Given the description of an element on the screen output the (x, y) to click on. 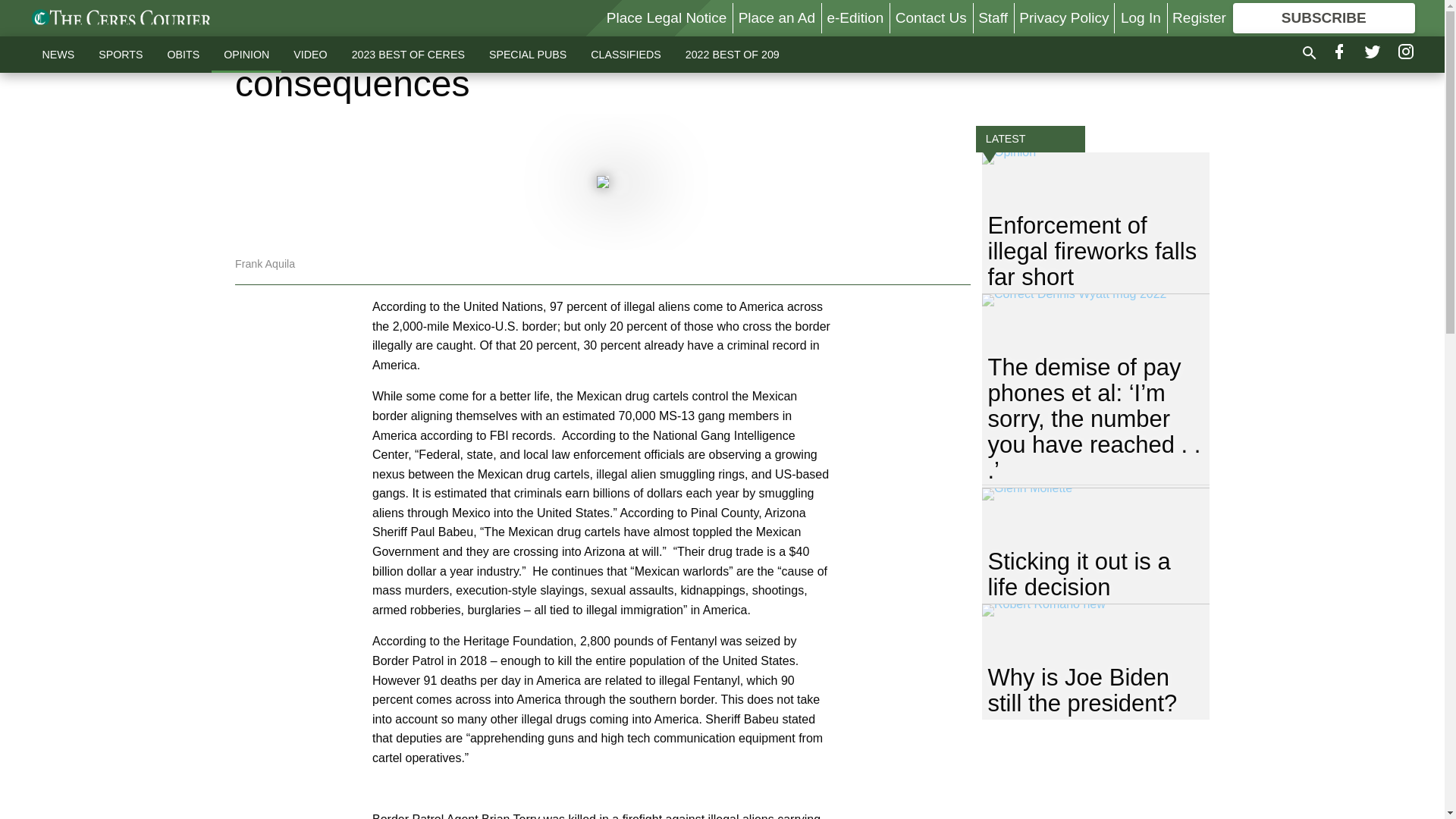
SUBSCRIBE (1324, 18)
Privacy Policy (1063, 17)
Contact Us (930, 17)
e-Edition (855, 17)
Log In (1140, 17)
Staff (992, 17)
Place an Ad (776, 17)
Register (1198, 17)
Place Legal Notice (666, 17)
